Given the description of an element on the screen output the (x, y) to click on. 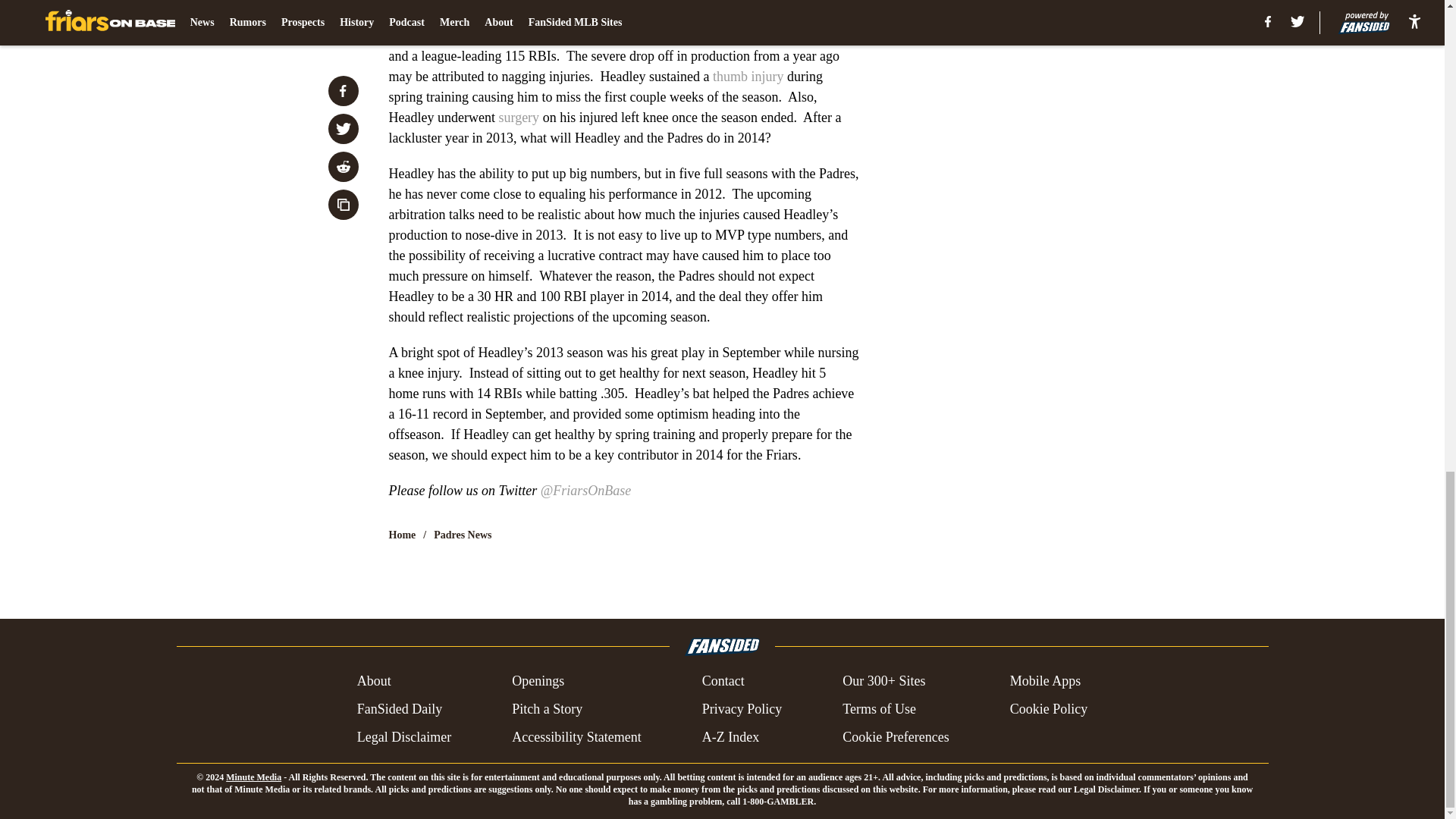
surgery (517, 117)
thumb injury (748, 76)
Contact (722, 680)
Cookie Preferences (896, 737)
Legal Disclaimer (403, 737)
Privacy Policy (742, 709)
FanSided Daily (399, 709)
Pitch a Story (547, 709)
A-Z Index (729, 737)
Terms of Use (879, 709)
